Given the description of an element on the screen output the (x, y) to click on. 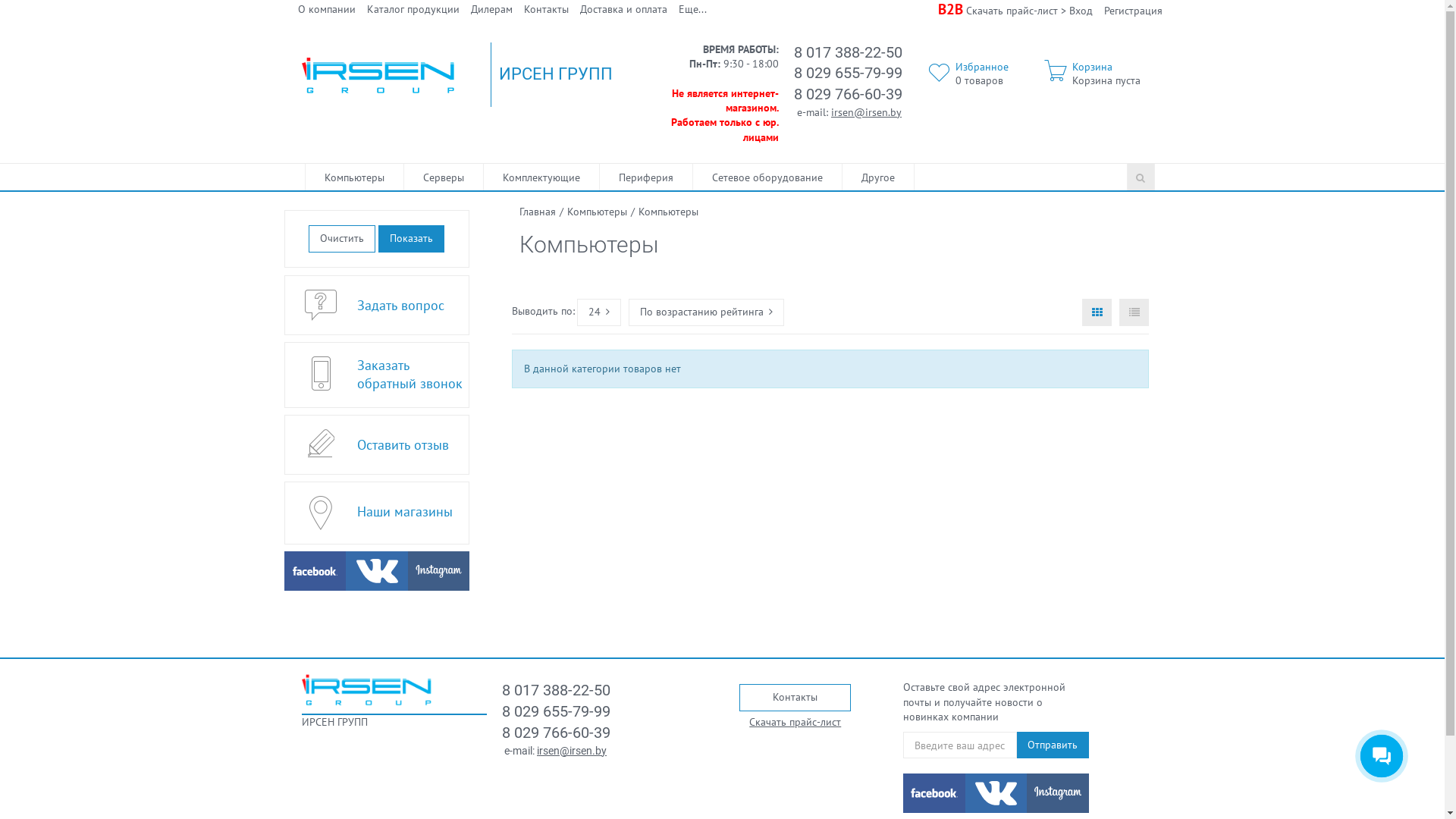
24 Element type: text (599, 311)
8 029 655-79-99 Element type: text (847, 72)
8 017 388-22-50 Element type: text (556, 689)
irsen@irsen.by Element type: text (866, 112)
8 029 655-79-99 Element type: text (556, 711)
B2B Element type: text (949, 9)
logo Element type: hover (378, 73)
irsen@irsen.by Element type: text (571, 750)
8 029 766-60-39 Element type: text (556, 732)
logo Element type: hover (367, 688)
8 029 766-60-39 Element type: text (847, 93)
8 017 388-22-50 Element type: text (847, 51)
